Given the description of an element on the screen output the (x, y) to click on. 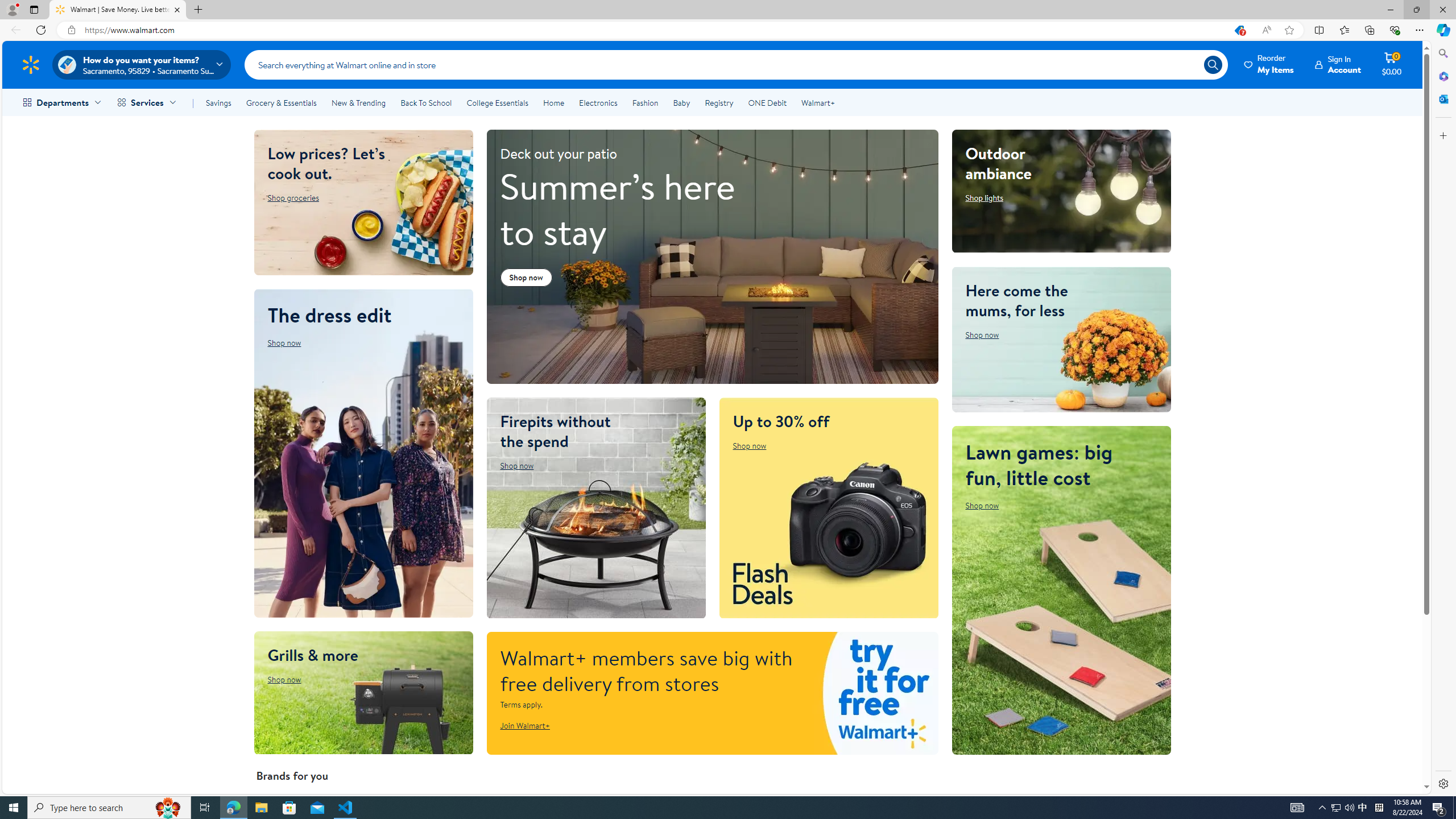
Walmart+ (817, 102)
Back To School (425, 102)
Shop now The dress edit (284, 342)
Reorder My Items (1269, 64)
